Given the description of an element on the screen output the (x, y) to click on. 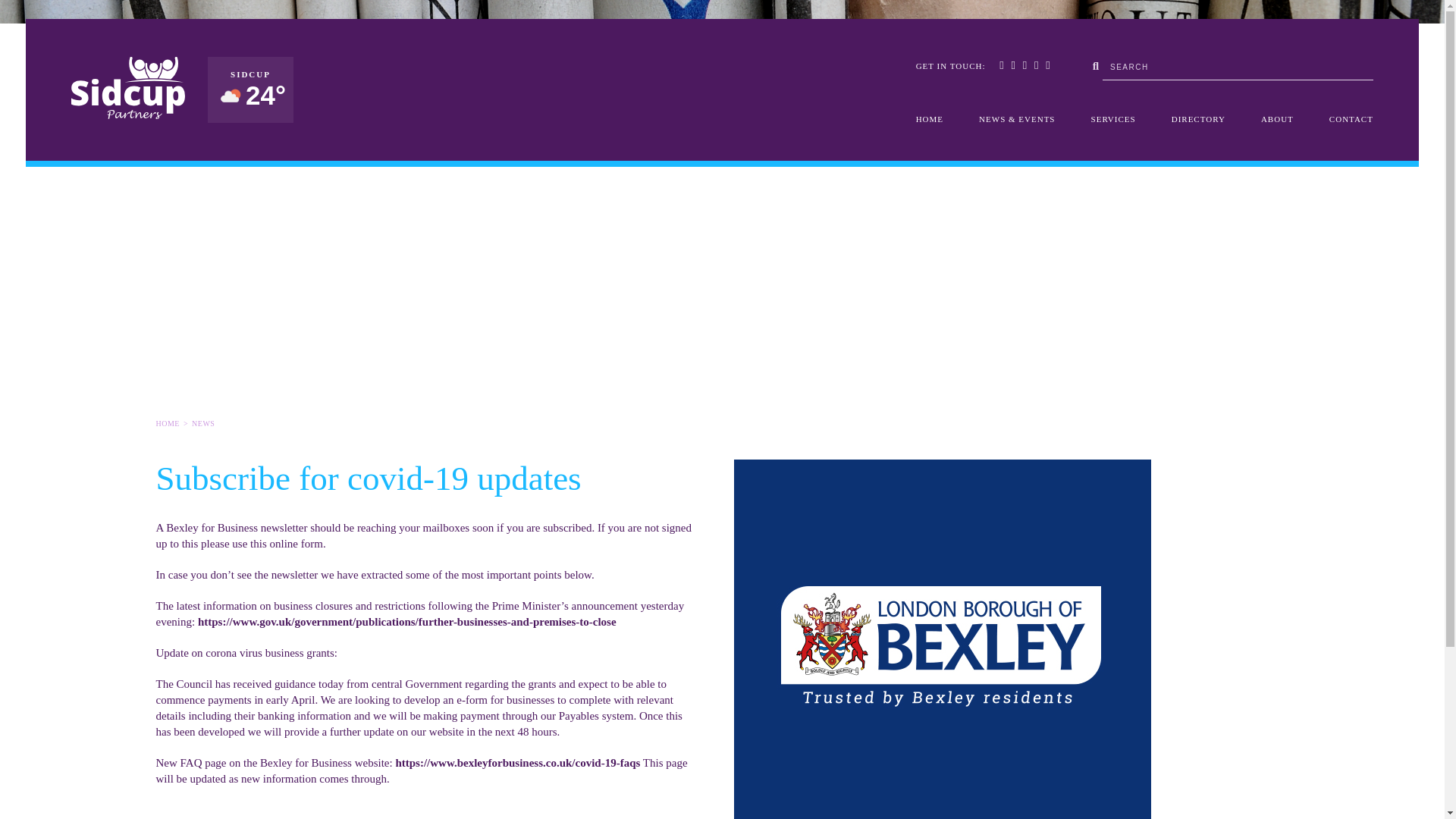
SERVICES (1112, 118)
CONTACT (1351, 118)
DIRECTORY (1198, 118)
ABOUT (1277, 118)
HOME (929, 118)
